Given the description of an element on the screen output the (x, y) to click on. 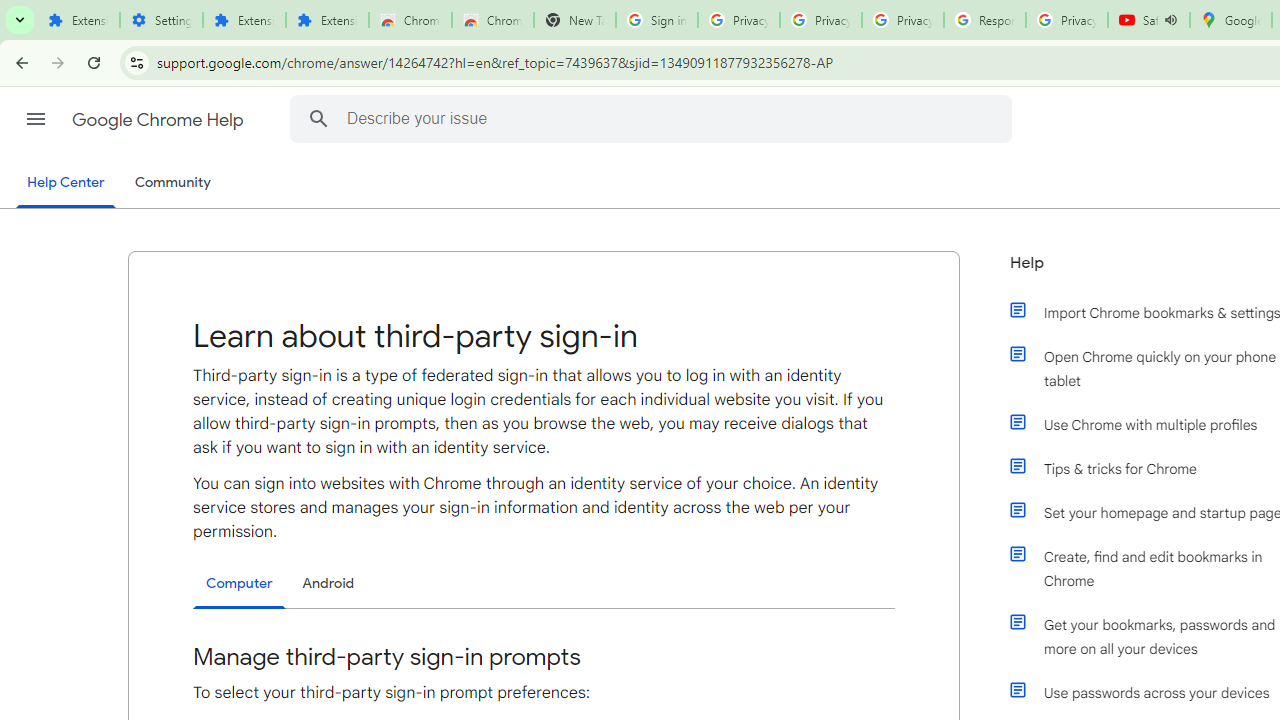
Chrome Web Store (409, 20)
Mute tab (1170, 20)
Extensions (244, 20)
Google Chrome Help (159, 119)
Sign in - Google Accounts (656, 20)
Extensions (326, 20)
Chrome Web Store - Themes (492, 20)
New Tab (574, 20)
Community (171, 183)
Computer (239, 584)
Help Center (65, 183)
